Given the description of an element on the screen output the (x, y) to click on. 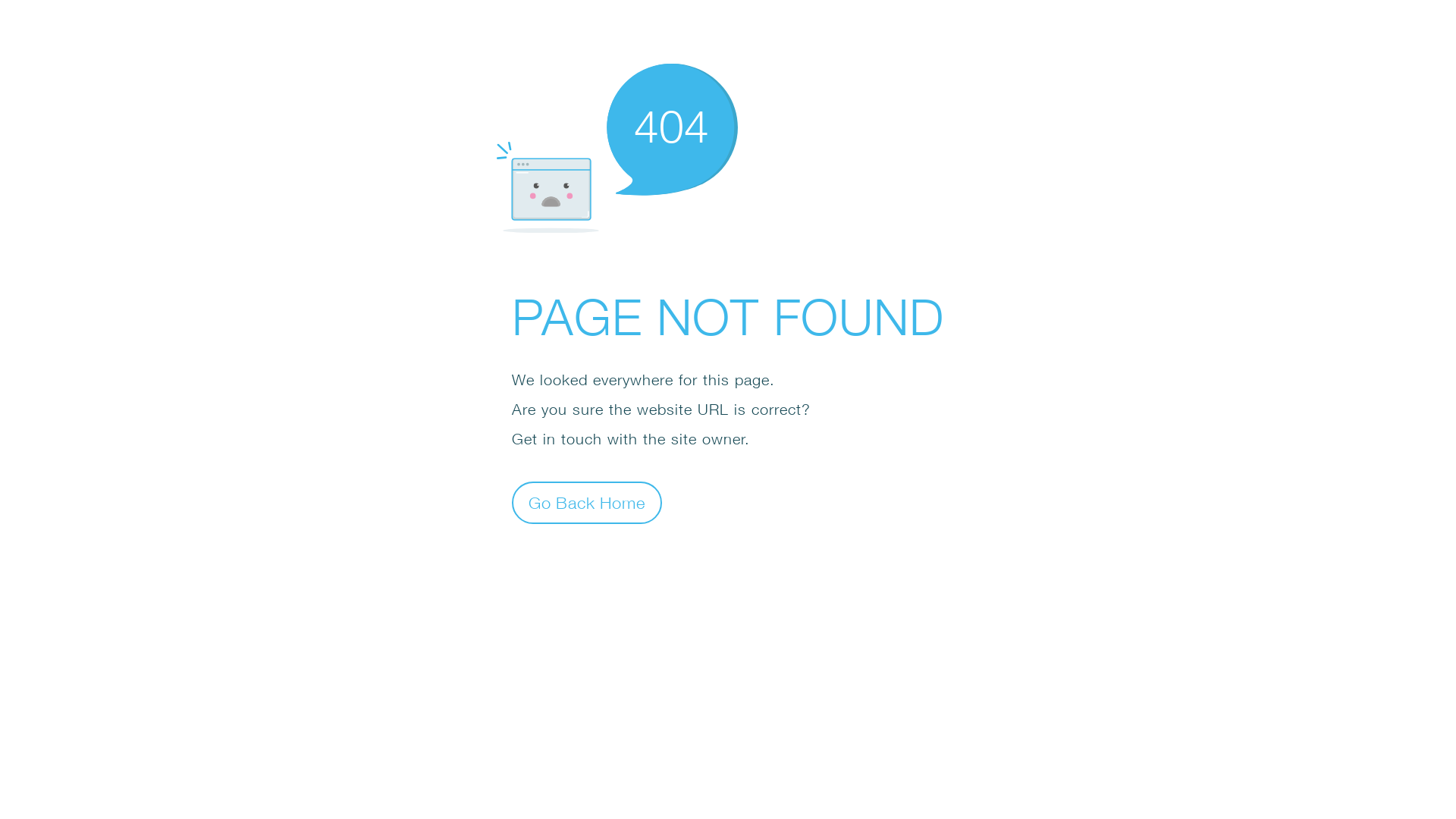
Go Back Home Element type: text (586, 502)
